Given the description of an element on the screen output the (x, y) to click on. 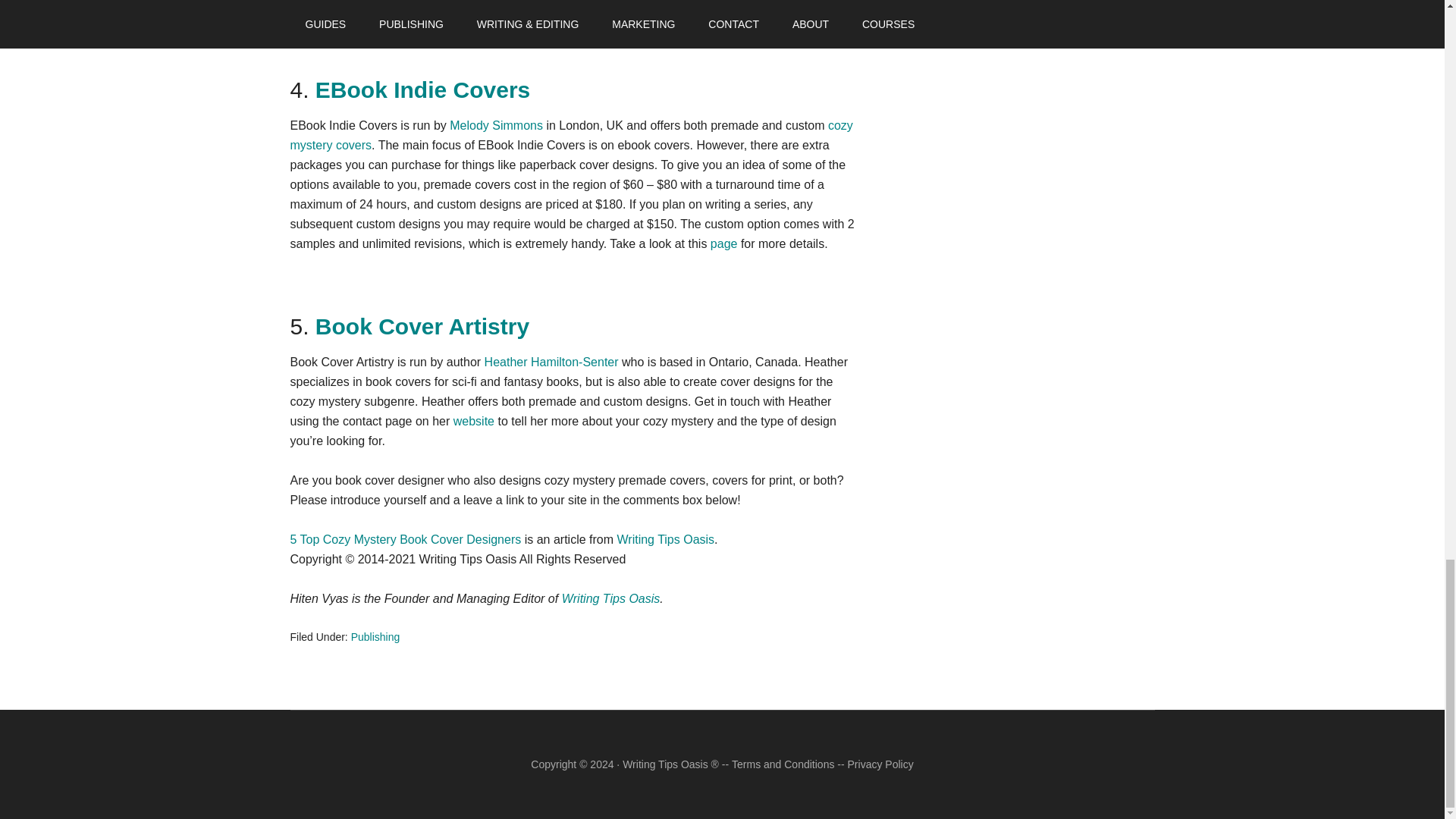
website (473, 420)
Melody Simmons (496, 124)
Writing Tips Oasis (664, 539)
5 Top Cozy Mystery Book Cover Designers (405, 539)
Book Cover Artistry (422, 326)
EBook Indie Covers (422, 89)
here (576, 6)
Heather Hamilton-Senter (551, 361)
page (724, 243)
cozy mystery covers (570, 134)
